Given the description of an element on the screen output the (x, y) to click on. 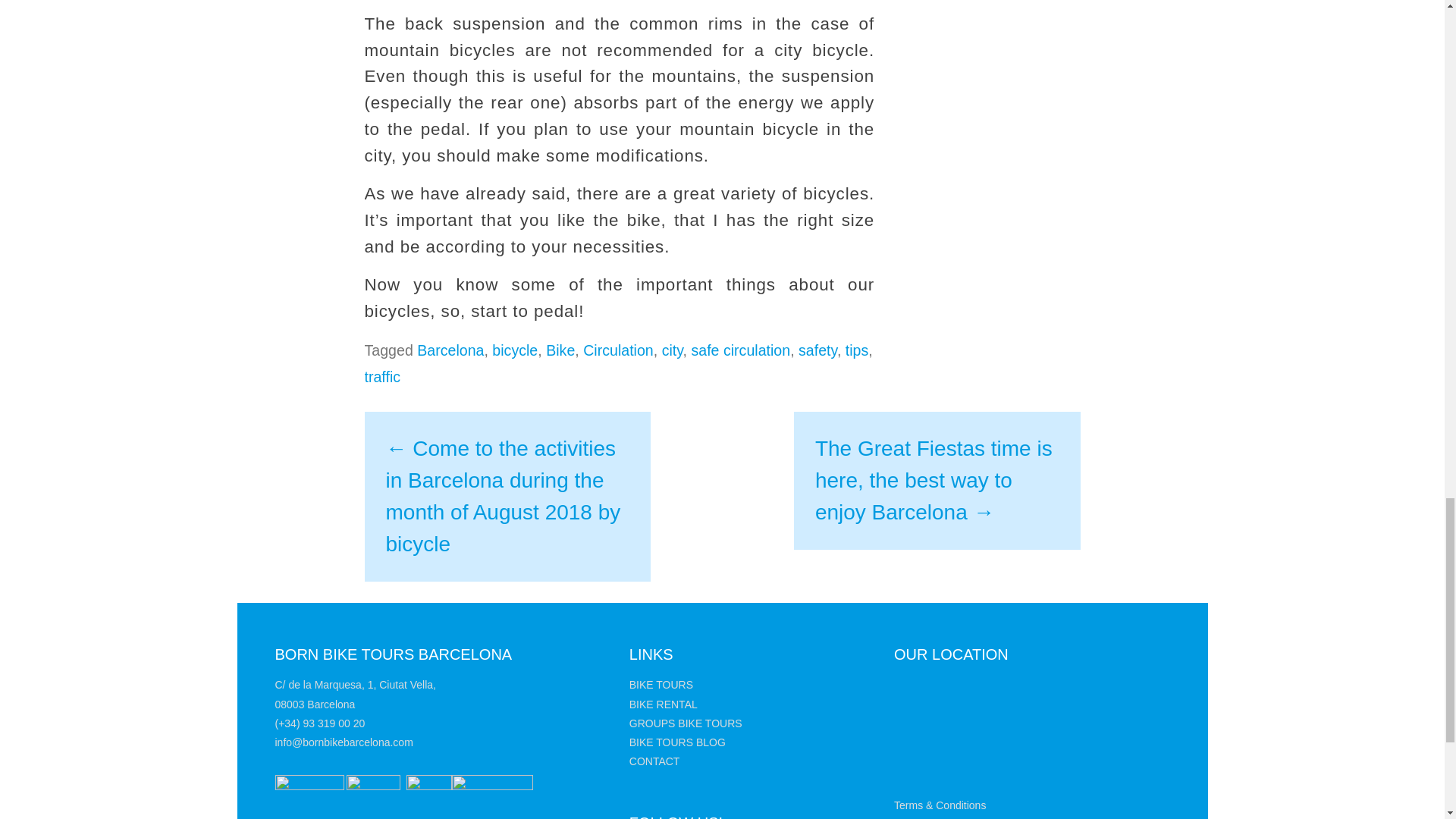
Bike (560, 350)
bicycle (514, 350)
safe circulation (740, 350)
Circulation (618, 350)
safety (817, 350)
Barcelona (449, 350)
traffic (382, 376)
tips (857, 350)
city (672, 350)
